Given the description of an element on the screen output the (x, y) to click on. 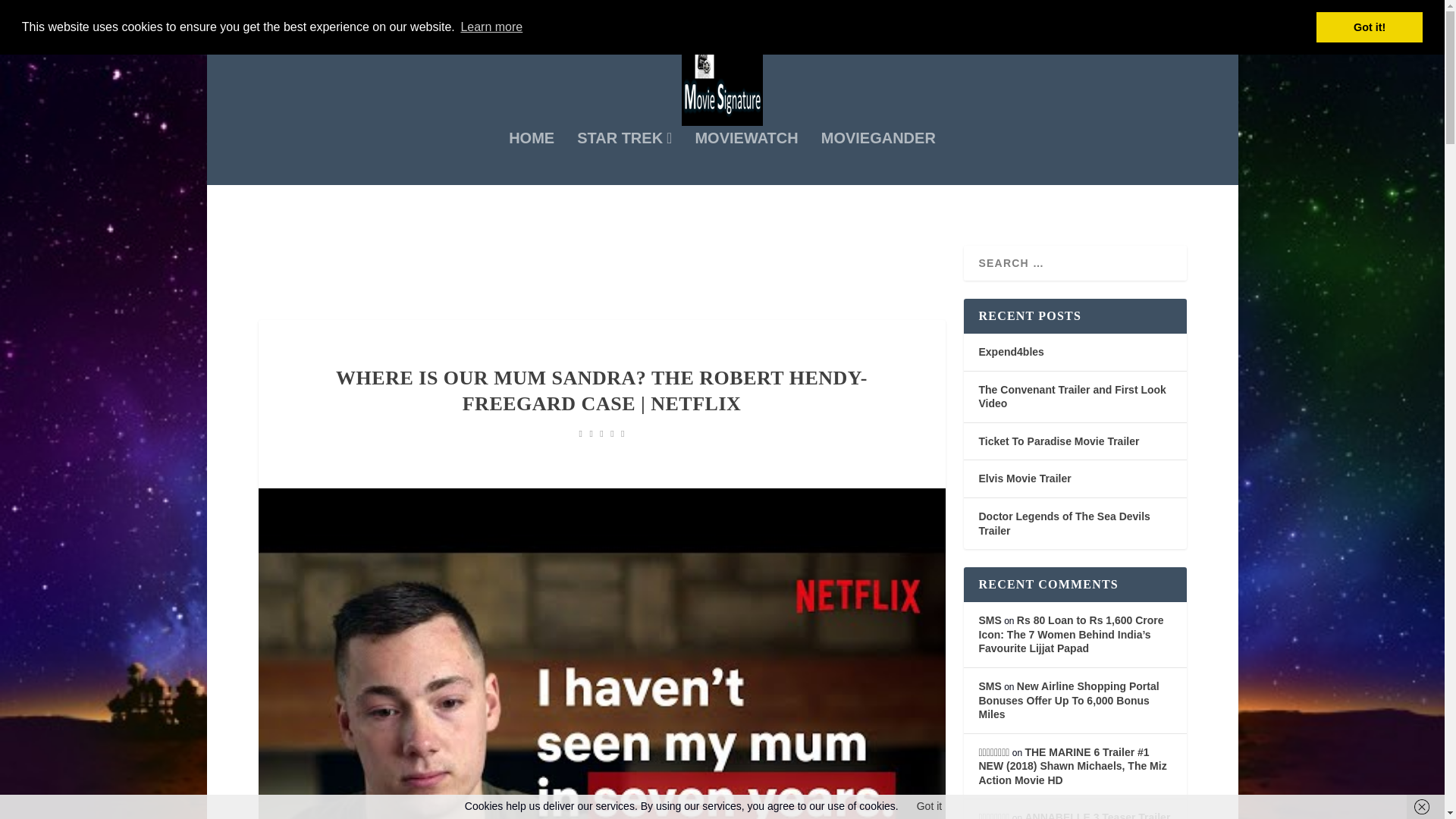
MOVIEGANDER (878, 158)
Learn more (491, 26)
Rating: 0.00 (601, 433)
MOVIEWATCH (745, 158)
STAR TREK (623, 158)
